Given the description of an element on the screen output the (x, y) to click on. 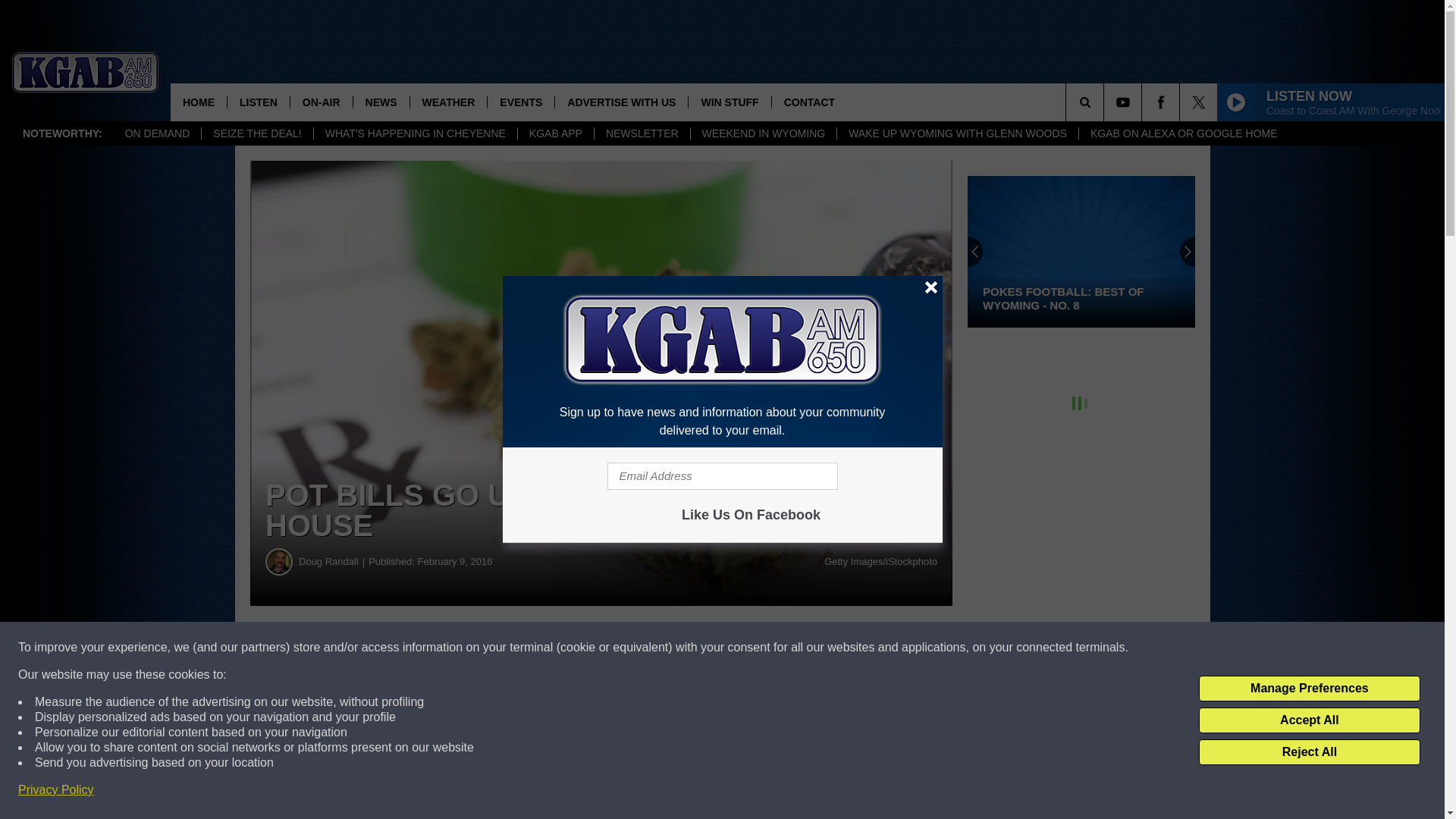
SEIZE THE DEAL! (256, 133)
KGAB APP (555, 133)
WHAT'S HAPPENING IN CHEYENNE (414, 133)
LISTEN (258, 102)
Accept All (1309, 720)
ON-AIR (320, 102)
Email Address (722, 475)
NOTEWORTHY: (62, 133)
KGAB ON ALEXA OR GOOGLE HOME (1183, 133)
WEEKEND IN WYOMING (763, 133)
Share on Twitter (741, 647)
ON DEMAND (157, 133)
WAKE UP WYOMING WITH GLENN WOODS (956, 133)
Share on Facebook (460, 647)
NEWSLETTER (642, 133)
